Given the description of an element on the screen output the (x, y) to click on. 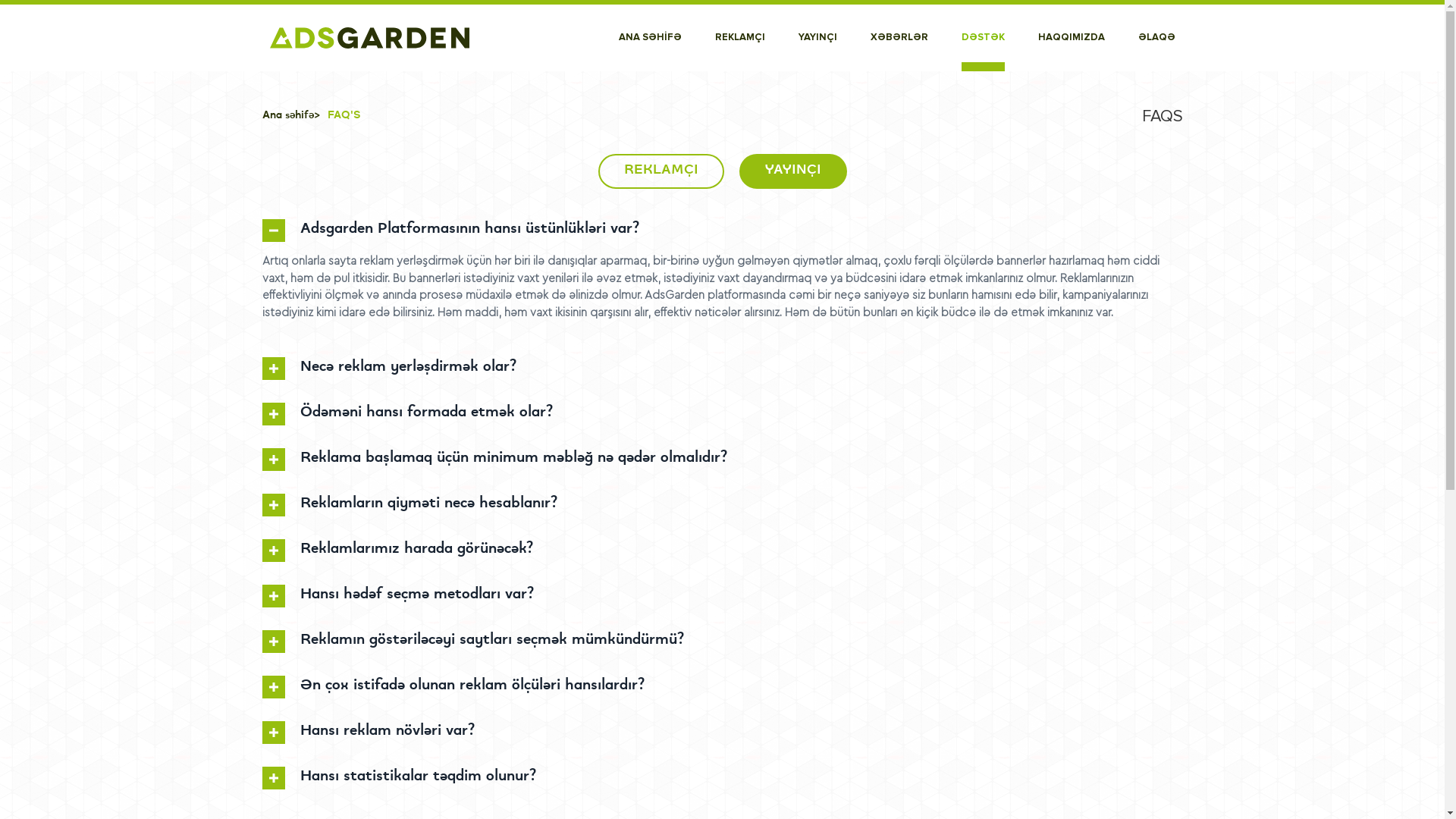
HAQQIMIZDA Element type: text (1070, 37)
